Given the description of an element on the screen output the (x, y) to click on. 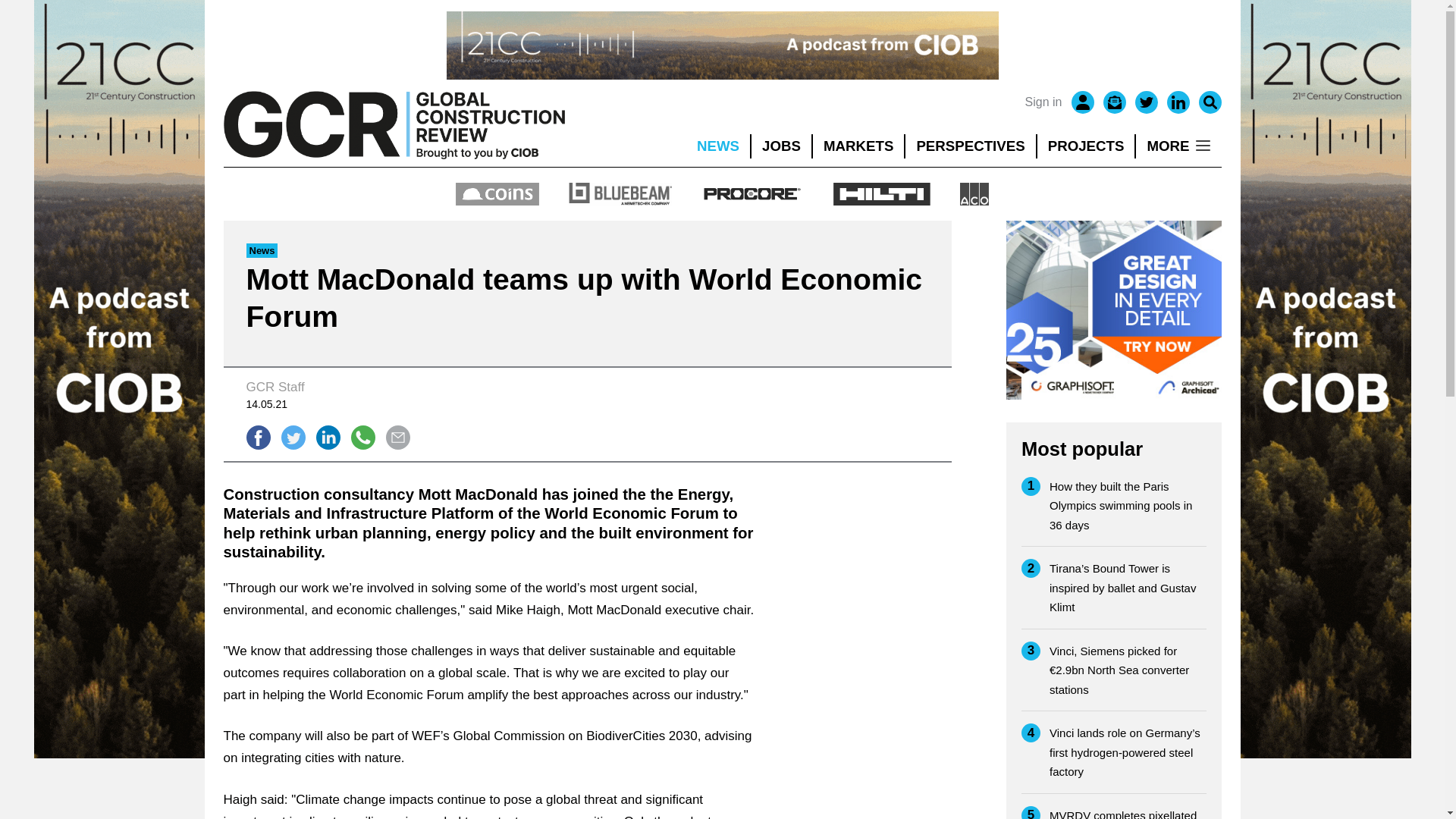
NEWS (717, 146)
PERSPECTIVES (970, 146)
MARKETS (858, 146)
MORE (1178, 146)
Tweet (292, 437)
Share on Facebook (257, 437)
Share on WhatsApp (362, 437)
Sign in (1043, 102)
PROJECTS (1085, 146)
Send email (397, 437)
Share on LinkedIn (327, 437)
JOBS (780, 146)
